Given the description of an element on the screen output the (x, y) to click on. 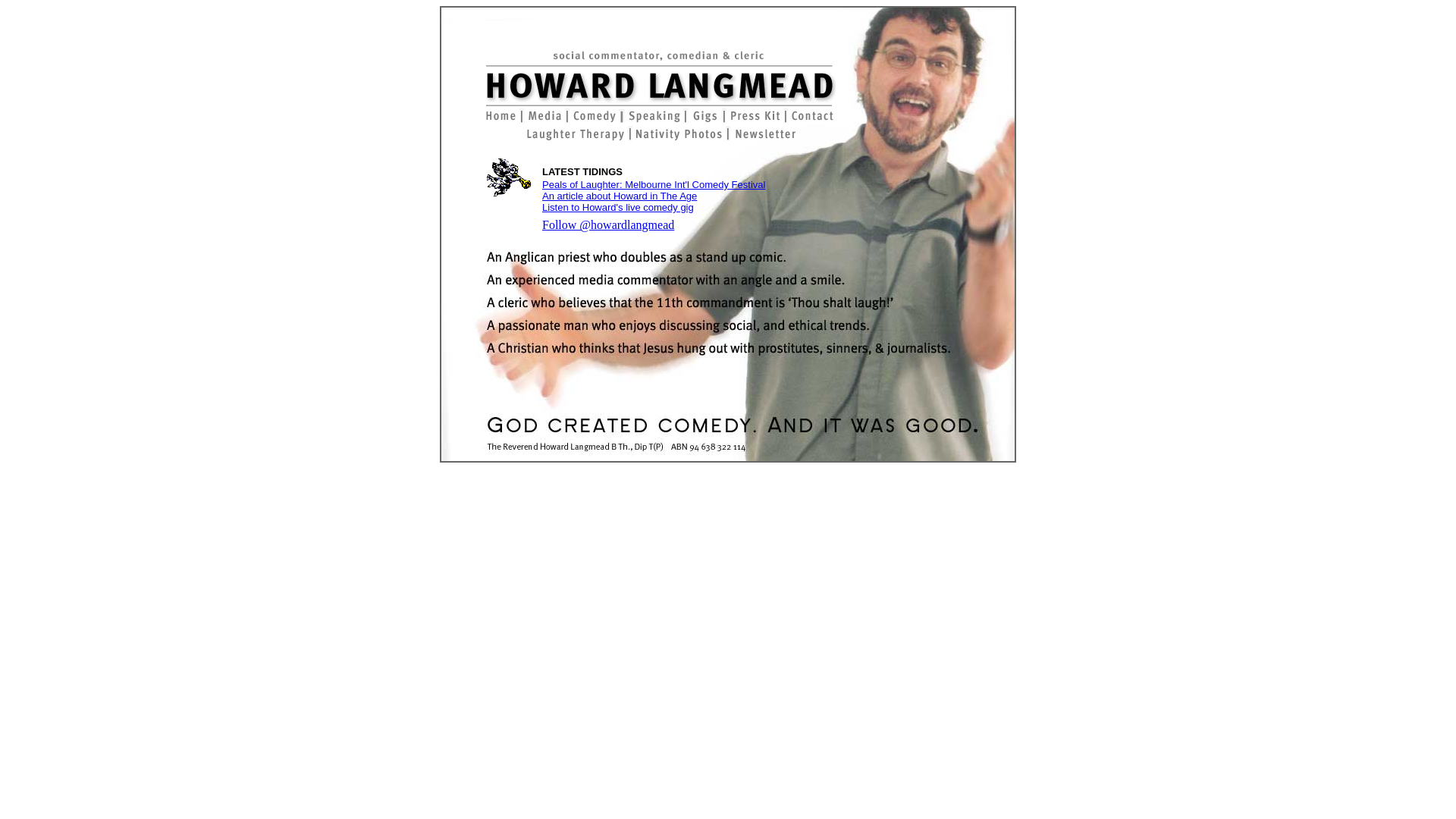
Follow @howardlangmead Element type: text (608, 224)
Listen to Howard's live comedy gig Element type: text (617, 207)
Peals of Laughter: Melbourne Int'l Comedy Festival Element type: text (653, 184)
An article about Howard in The Age Element type: text (619, 195)
